Given the description of an element on the screen output the (x, y) to click on. 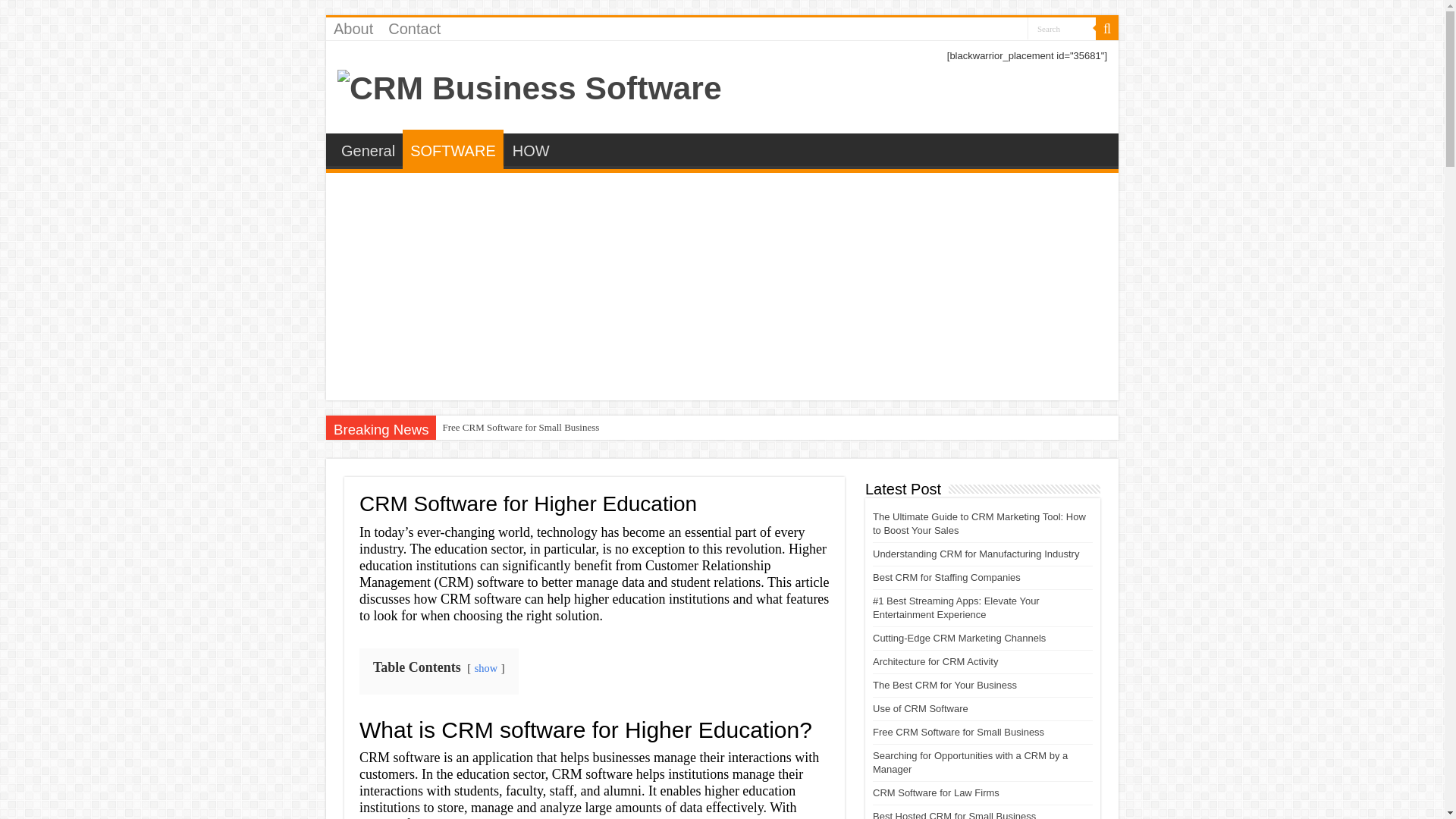
CRM Business Software (529, 85)
Free CRM Software for Small Business (520, 427)
show (485, 667)
Understanding CRM for Manufacturing Industry (975, 553)
Search (1107, 28)
Free CRM Software for Small Business (520, 427)
Search (1061, 28)
About (353, 28)
Best CRM for Staffing Companies (946, 577)
Contact (414, 28)
HOW (530, 149)
Search (1061, 28)
Search (1061, 28)
